Given the description of an element on the screen output the (x, y) to click on. 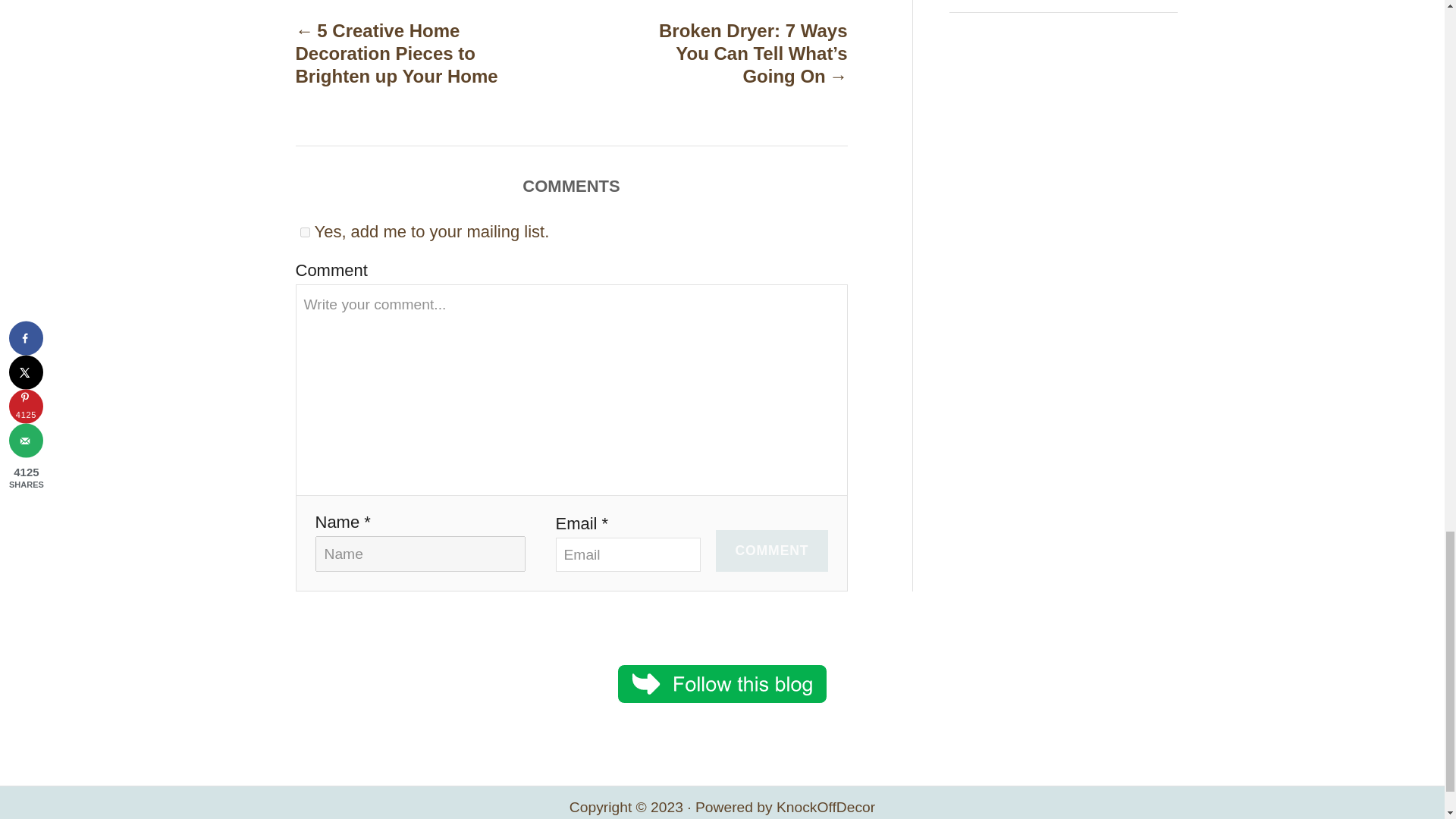
1 (304, 232)
